Given the description of an element on the screen output the (x, y) to click on. 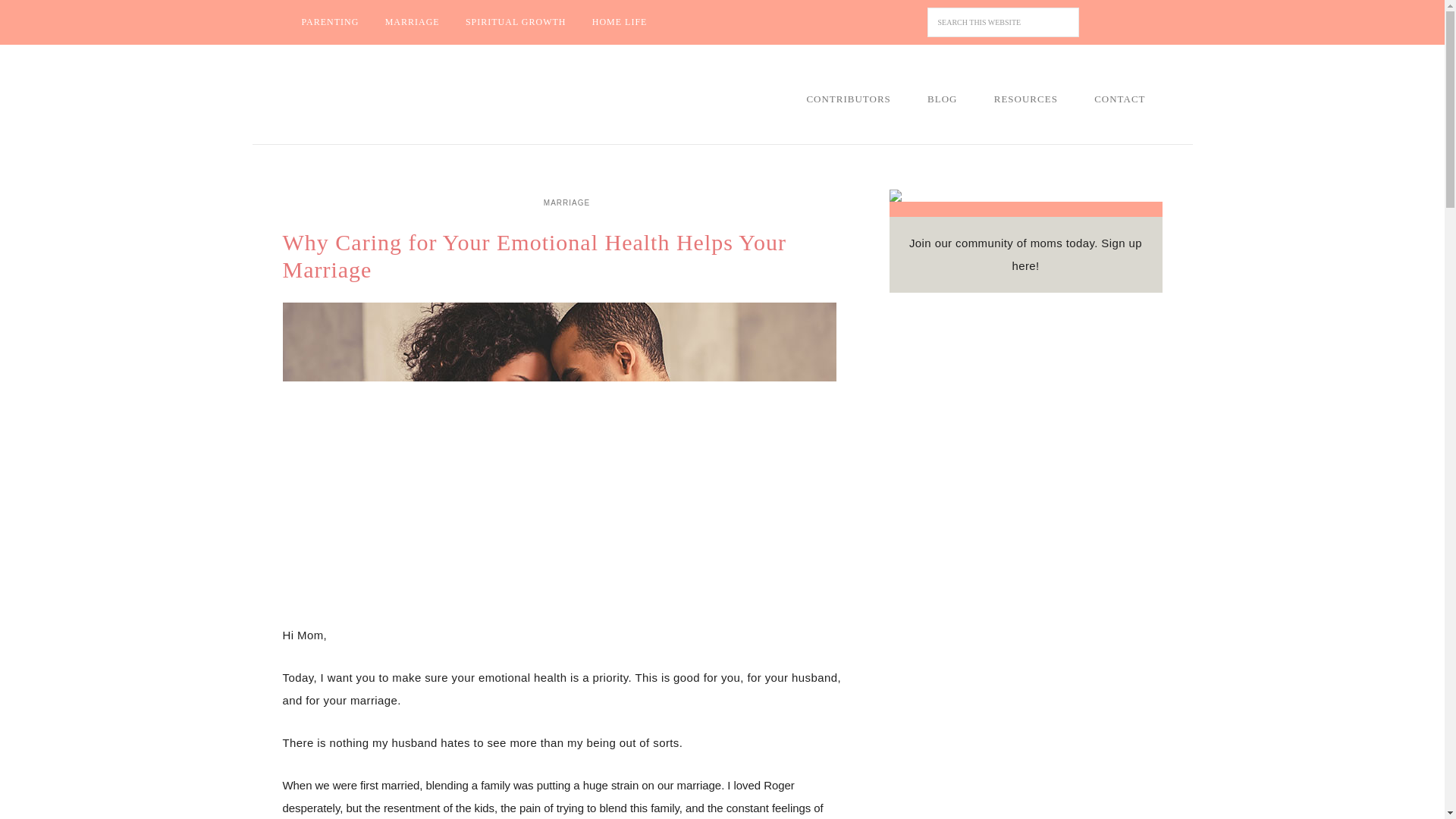
CHRISTIAN MOMMY (407, 95)
MARRIAGE (566, 202)
RESOURCES (1025, 98)
MARRIAGE (412, 22)
PARENTING (329, 22)
CONTACT (1119, 98)
HOME LIFE (619, 22)
CONTRIBUTORS (848, 98)
SPIRITUAL GROWTH (516, 22)
BLOG (942, 98)
